Given the description of an element on the screen output the (x, y) to click on. 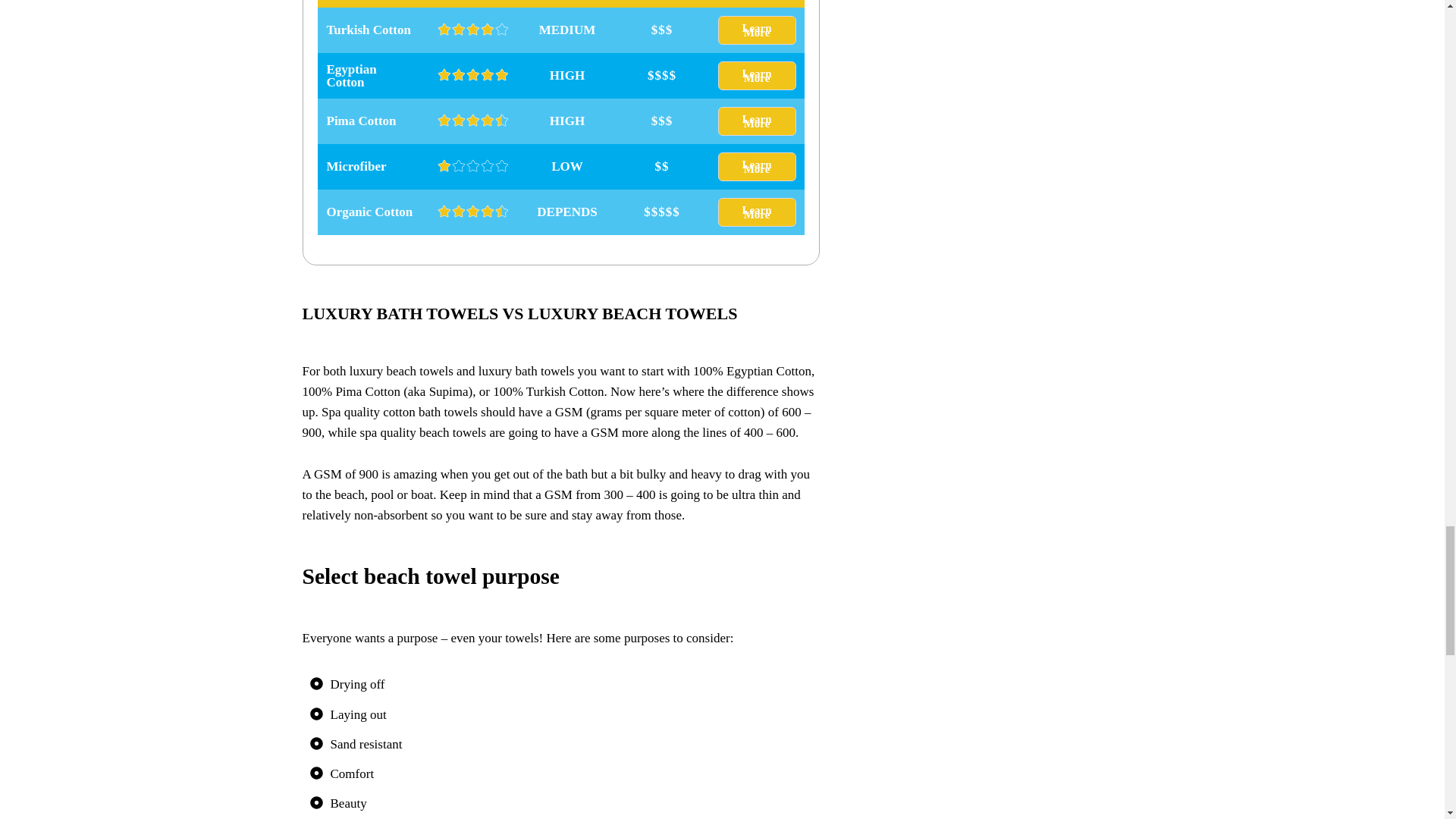
Learn More (755, 212)
Learn More (755, 166)
Learn More (755, 30)
Learn More (755, 75)
Learn More (755, 121)
